Given the description of an element on the screen output the (x, y) to click on. 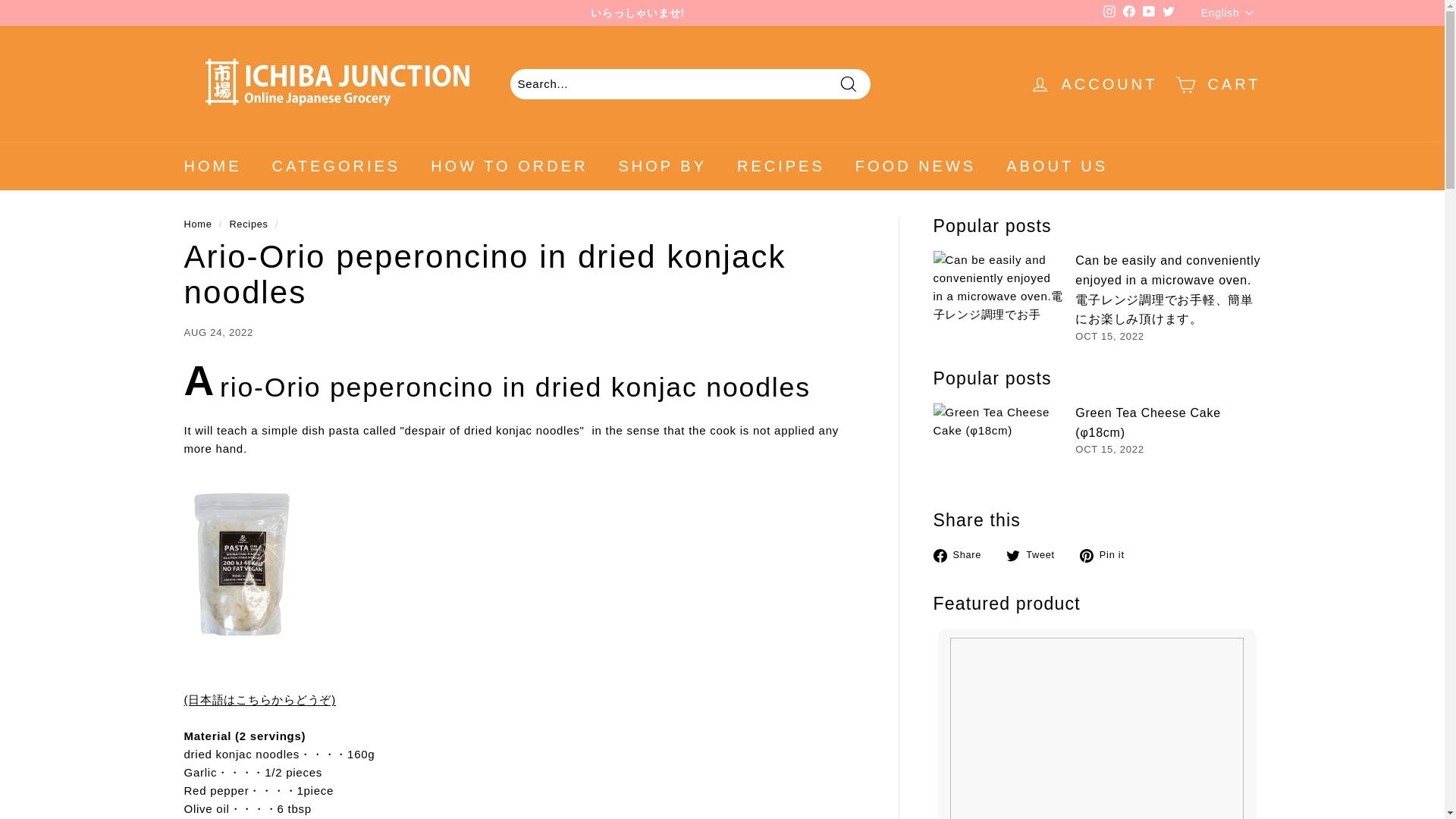
HOME (212, 165)
CATEGORIES (335, 165)
HOW TO ORDER (508, 165)
Back to the frontpage (197, 224)
SHOP BY (662, 165)
ABOUT US (1056, 165)
Pin on Pinterest (1107, 555)
FOOD NEWS (915, 165)
RECIPES (781, 165)
